Given the description of an element on the screen output the (x, y) to click on. 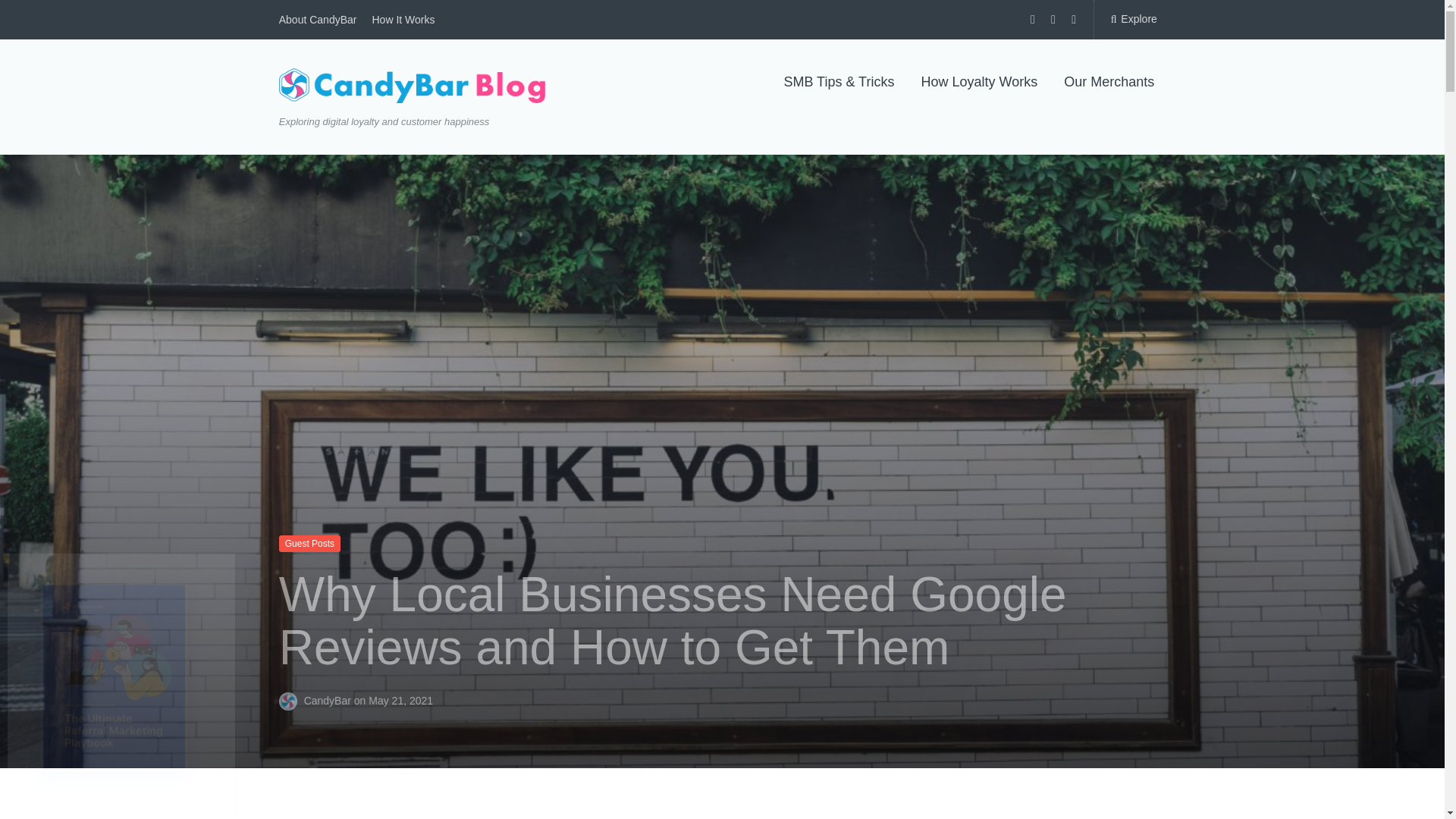
How It Works (402, 19)
About CandyBar (317, 19)
